Given the description of an element on the screen output the (x, y) to click on. 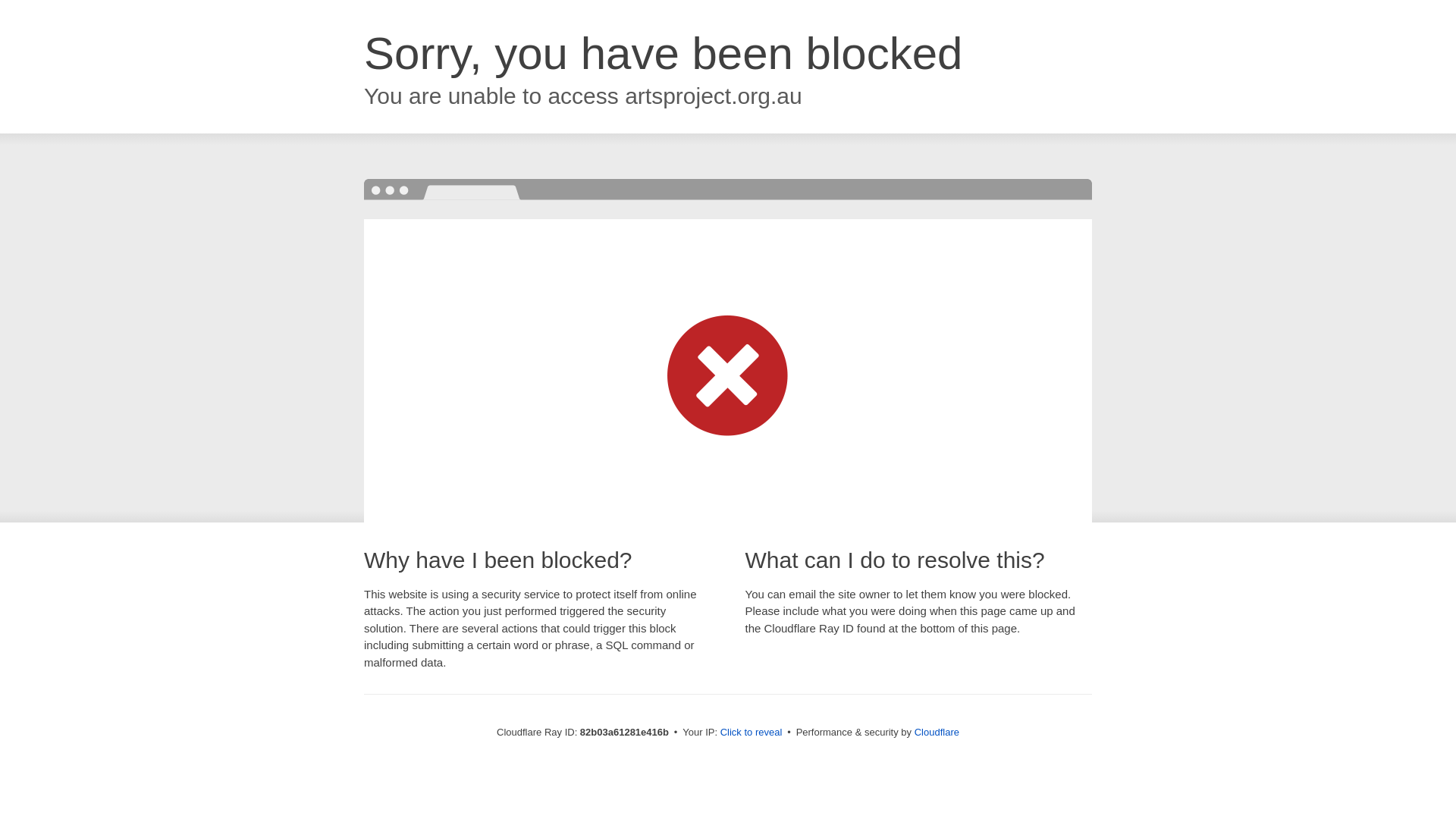
Click to reveal Element type: text (751, 732)
Cloudflare Element type: text (936, 731)
